Given the description of an element on the screen output the (x, y) to click on. 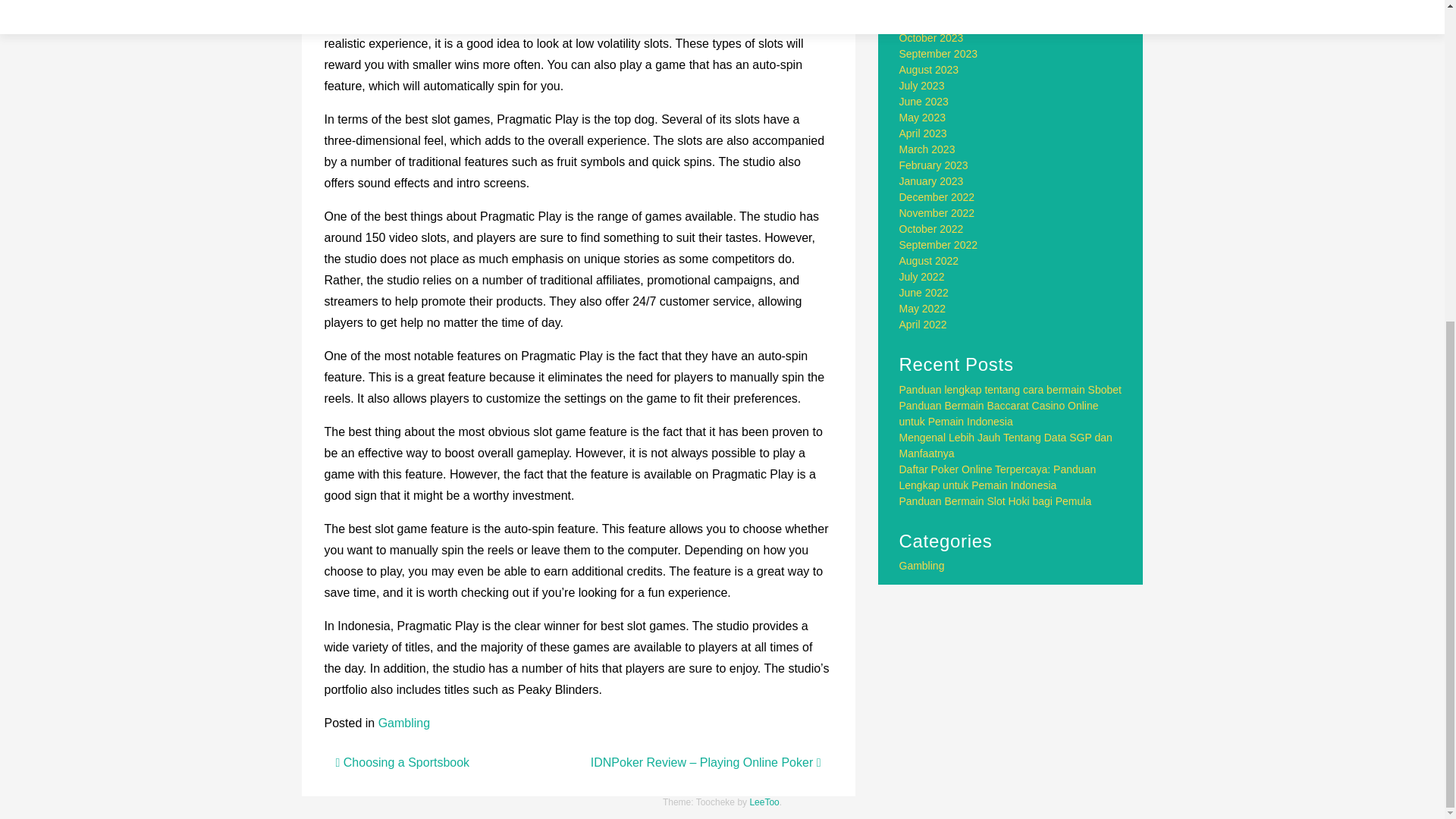
May 2023 (921, 117)
October 2022 (931, 228)
November 2022 (937, 213)
September 2023 (938, 53)
November 2023 (937, 21)
Panduan lengkap tentang cara bermain Sbobet (1010, 389)
June 2022 (924, 292)
July 2023 (921, 85)
Mengenal Lebih Jauh Tentang Data SGP dan Manfaatnya (1005, 445)
January 2023 (931, 181)
June 2023 (924, 101)
October 2023 (931, 37)
May 2022 (921, 308)
